Given the description of an element on the screen output the (x, y) to click on. 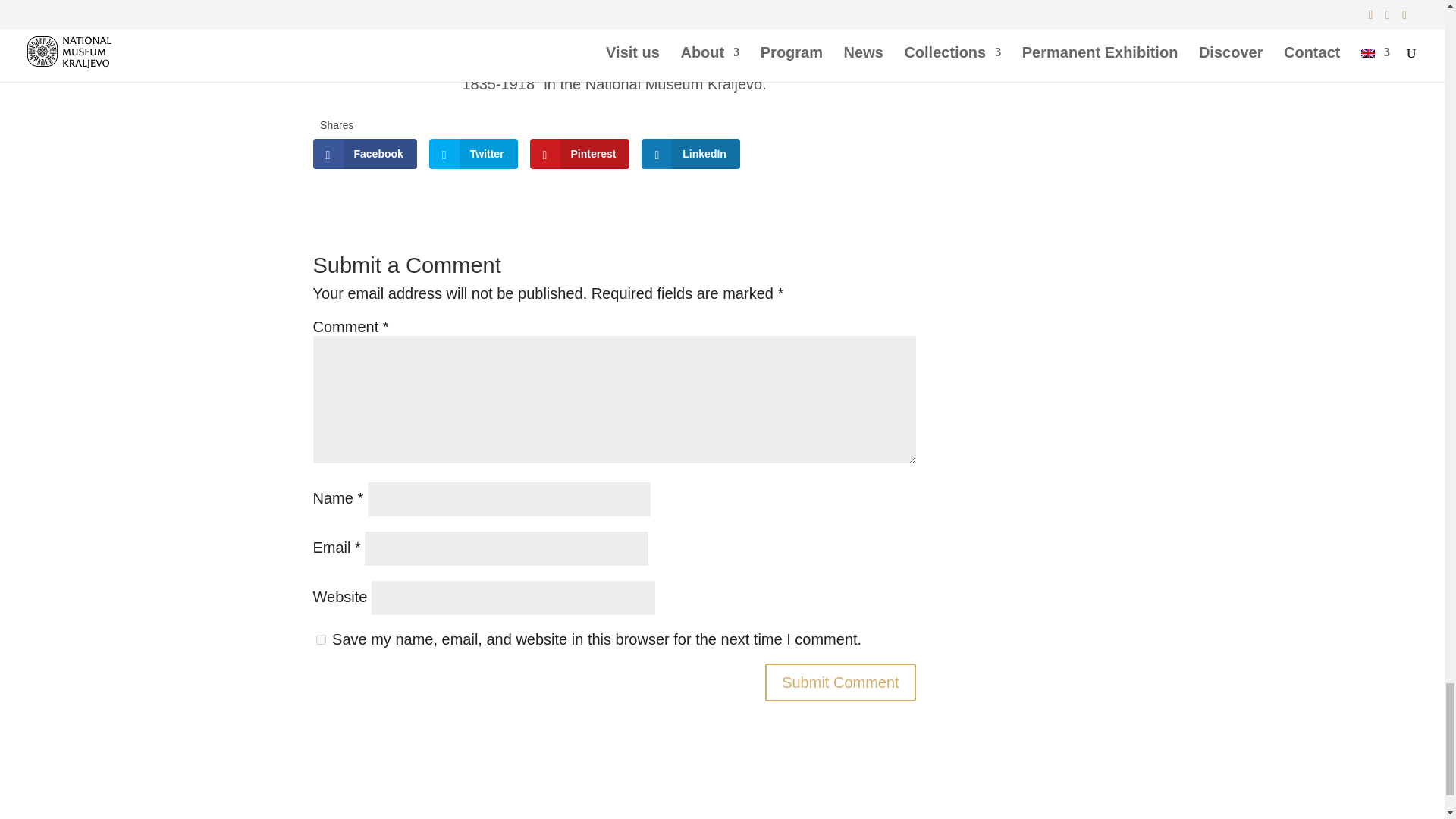
Twitter (473, 153)
yes (319, 639)
Facebook (364, 153)
LinkedIn (690, 153)
Submit Comment (840, 682)
Pinterest (578, 153)
Submit Comment (840, 682)
